Given the description of an element on the screen output the (x, y) to click on. 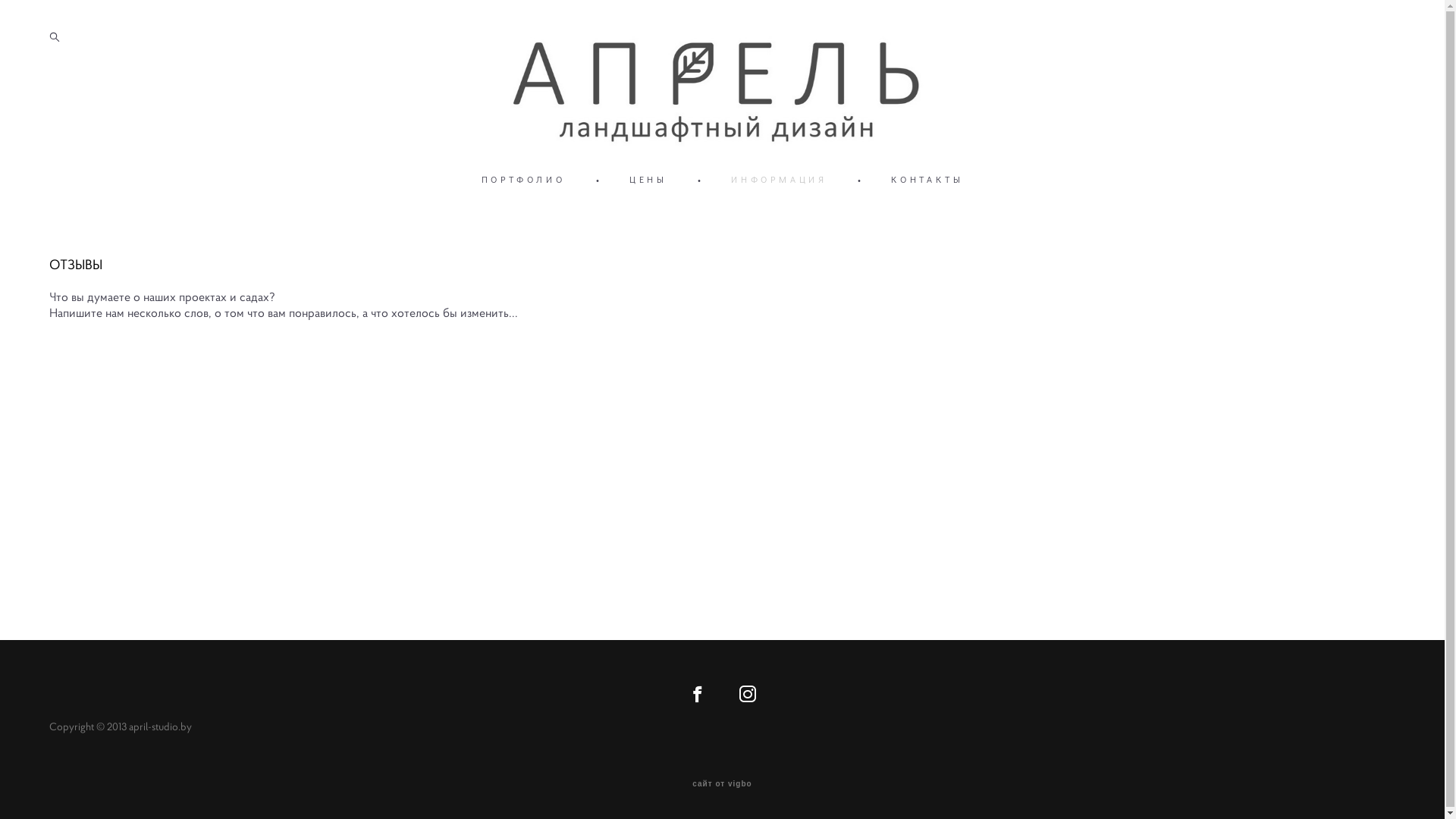
april-studio Element type: hover (722, 89)
